Given the description of an element on the screen output the (x, y) to click on. 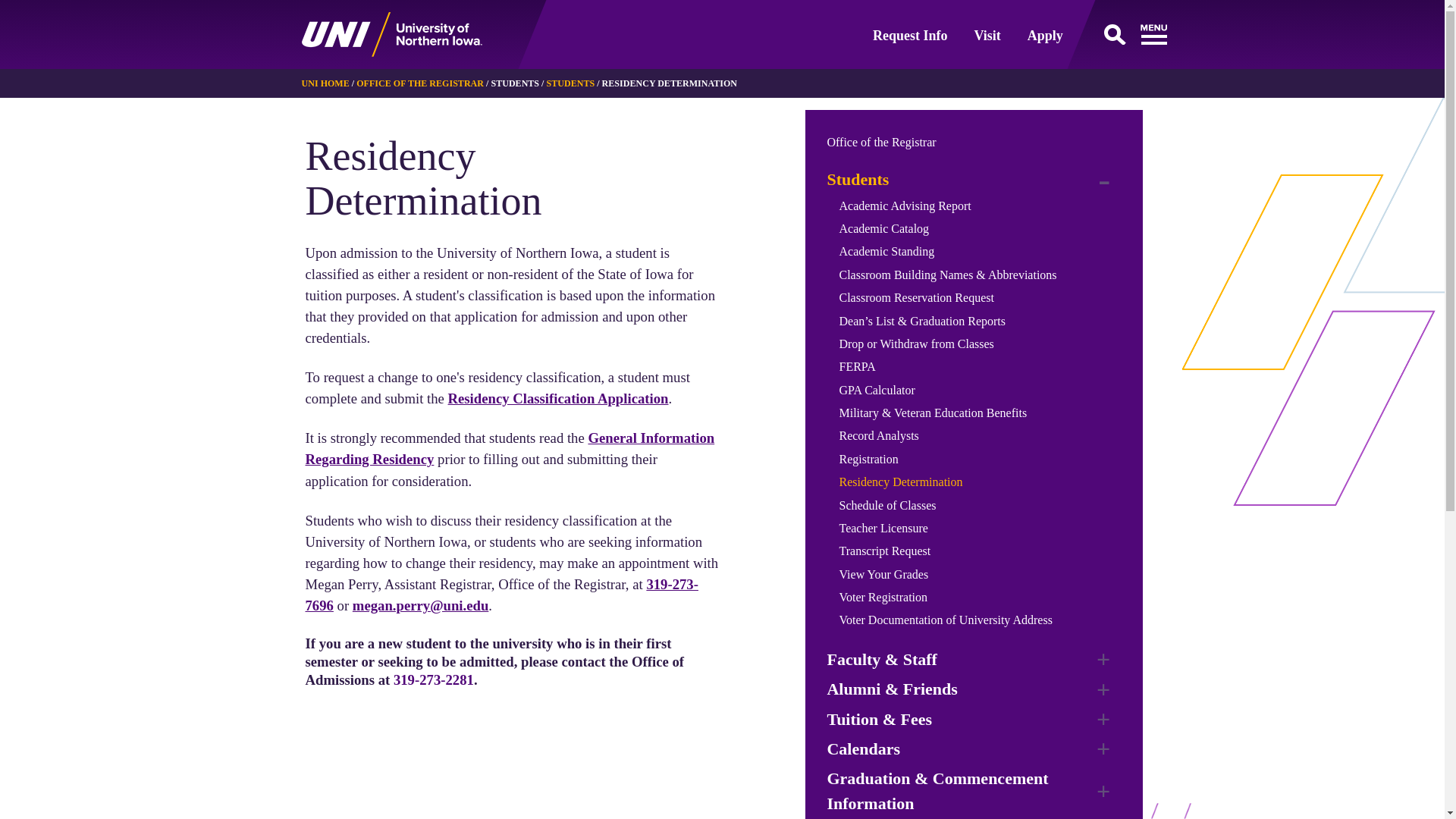
Visit (986, 35)
Apply (1045, 35)
Request Info (909, 35)
